Given the description of an element on the screen output the (x, y) to click on. 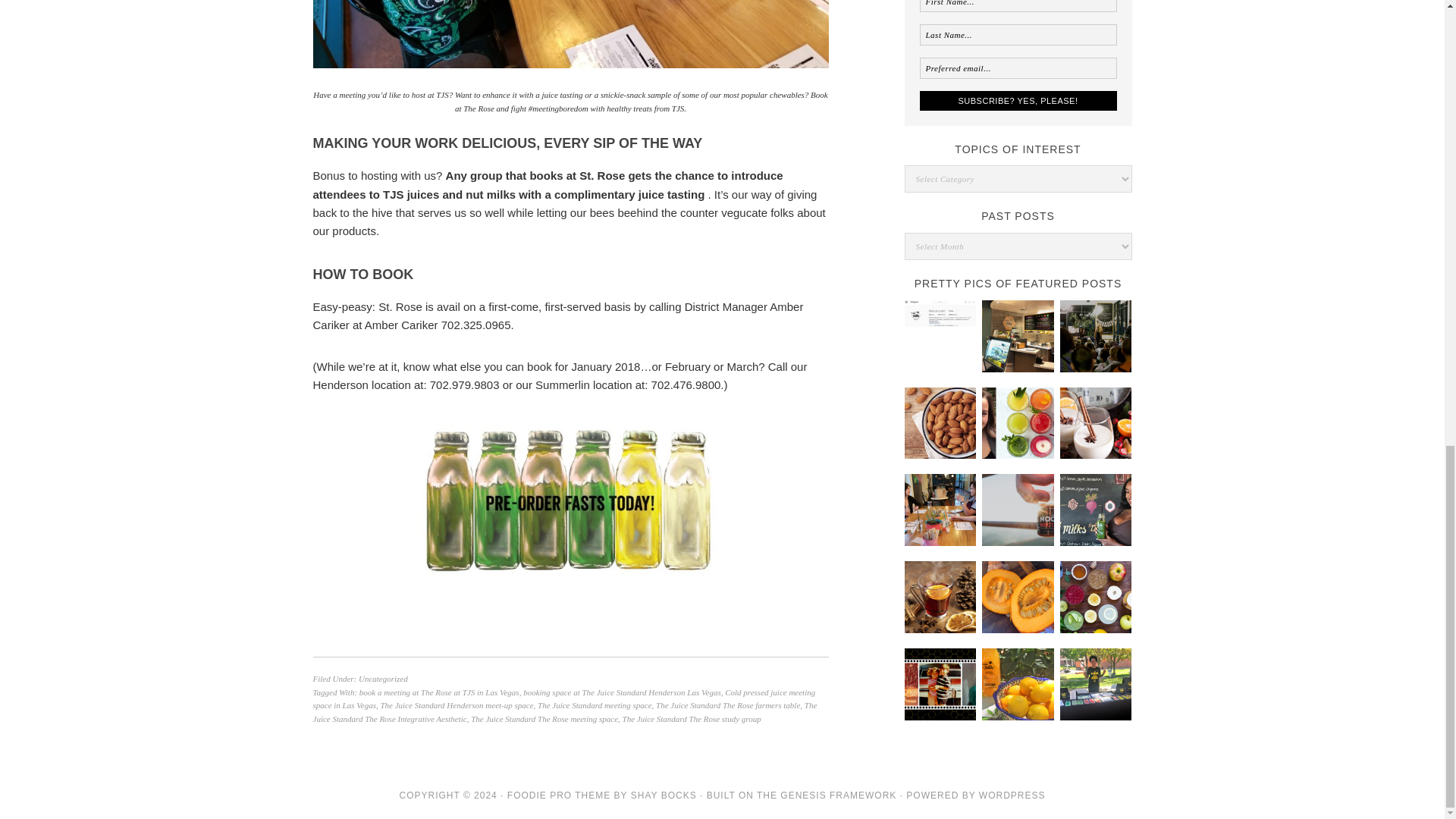
TJS News: Getting To Know Us (939, 684)
Subscribe? Yes, Please! (1017, 100)
The Juice Standard The Rose meeting space (543, 718)
booking space at The Juice Standard Henderson Las Vegas (621, 691)
The Juice Standard Henderson meet-up space (456, 705)
Friends Who Juice: LeAndria Holliday (1095, 510)
TJS News: Book Our Space in 2018 (939, 510)
TJS Events: Where We At (1095, 684)
Uncategorized (382, 678)
book a meeting at The Rose at TJS in Las Vegas (439, 691)
Juice Hacks: Got Kiddos? Hack These Drinks For The Holidays. (1095, 423)
Cold pressed juice meeting space in Las Vegas (564, 698)
TJS Events: Sofar Sounded Sogood. (1095, 336)
The Juice Standard The Rose study group (692, 718)
